Given the description of an element on the screen output the (x, y) to click on. 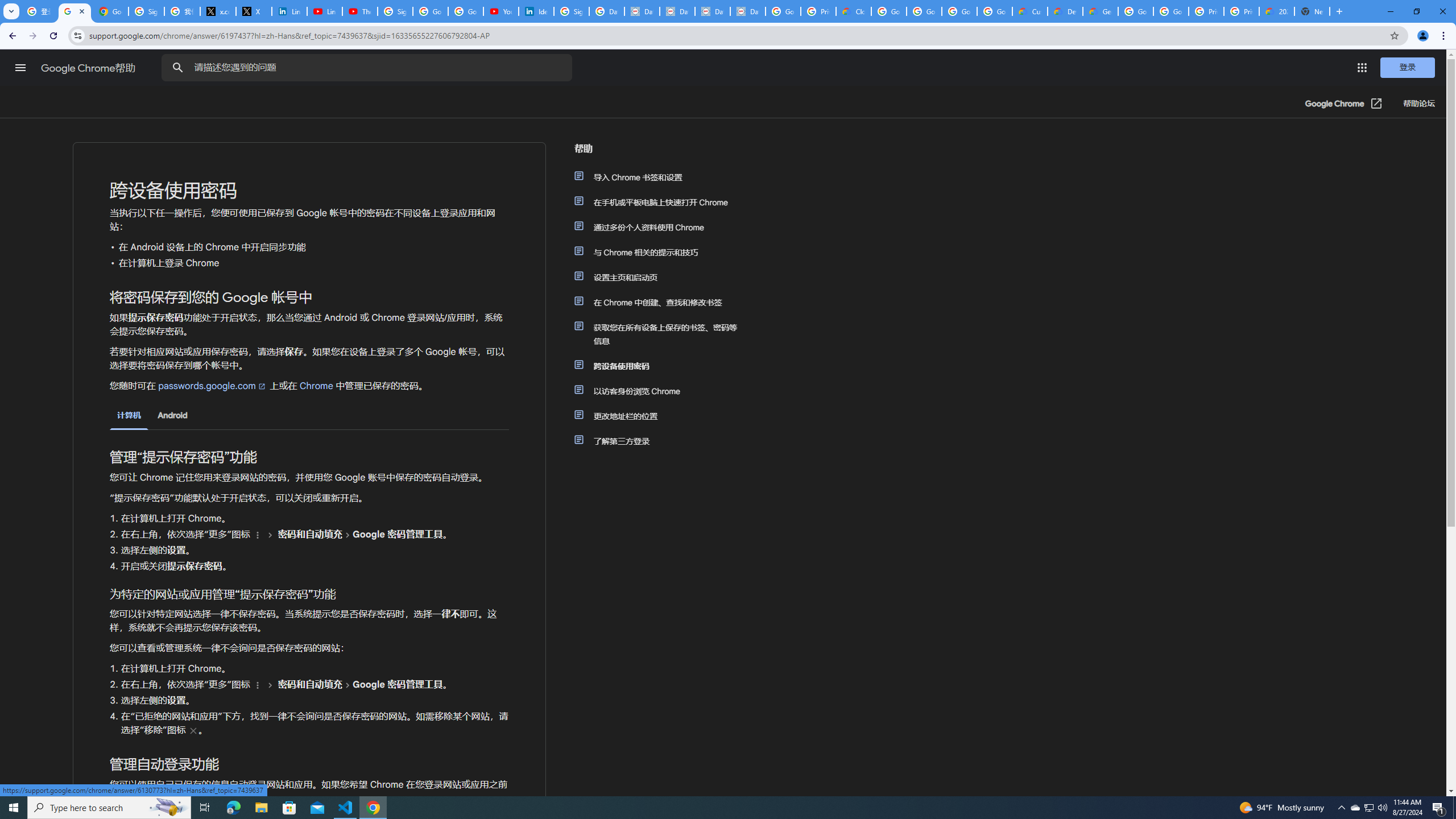
Data Privacy Framework (677, 11)
Google Cloud Platform (1170, 11)
